Given the description of an element on the screen output the (x, y) to click on. 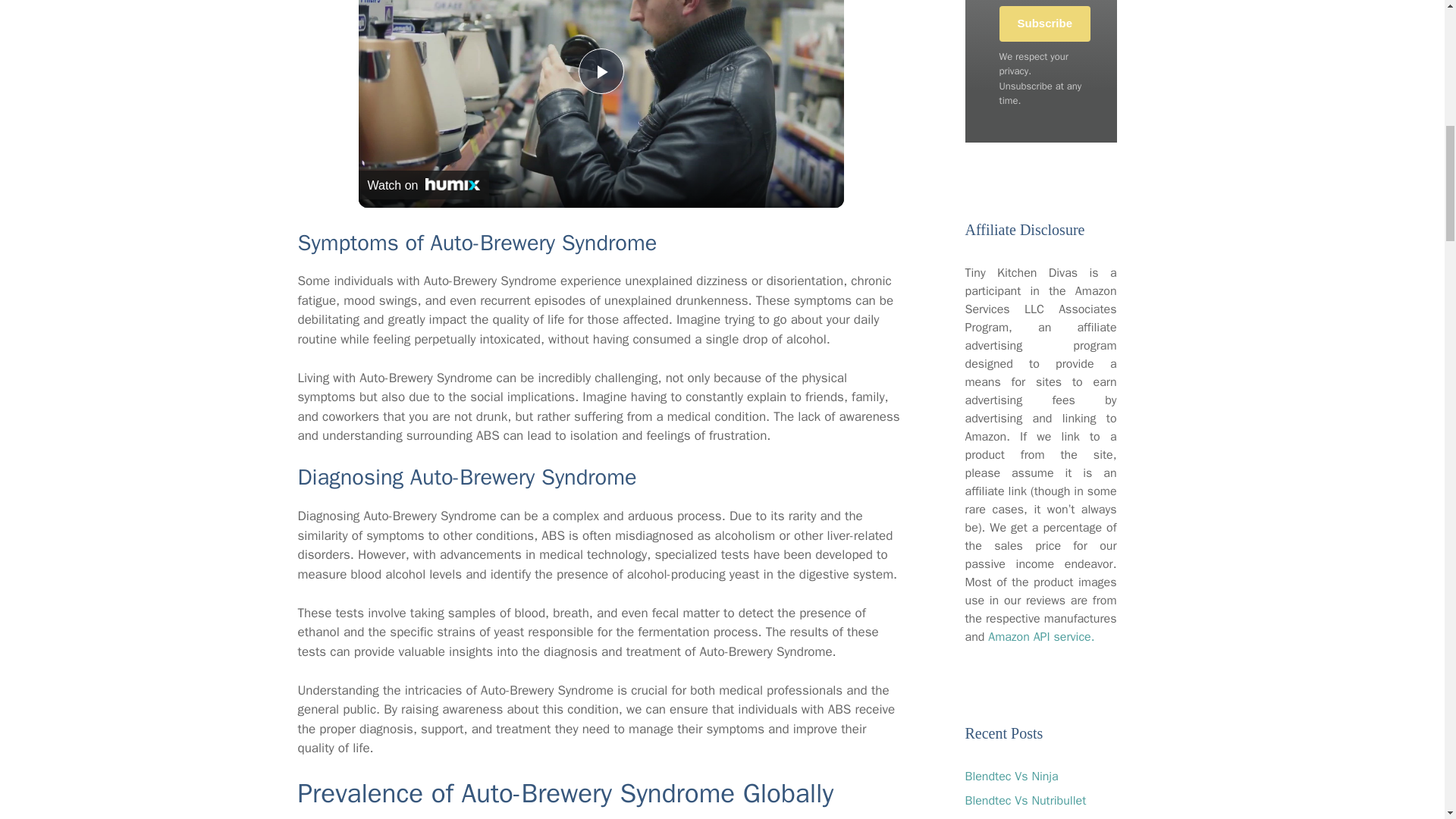
Watch on (422, 184)
Scroll back to top (1406, 720)
Play Video (600, 71)
Play Video (600, 71)
